Given the description of an element on the screen output the (x, y) to click on. 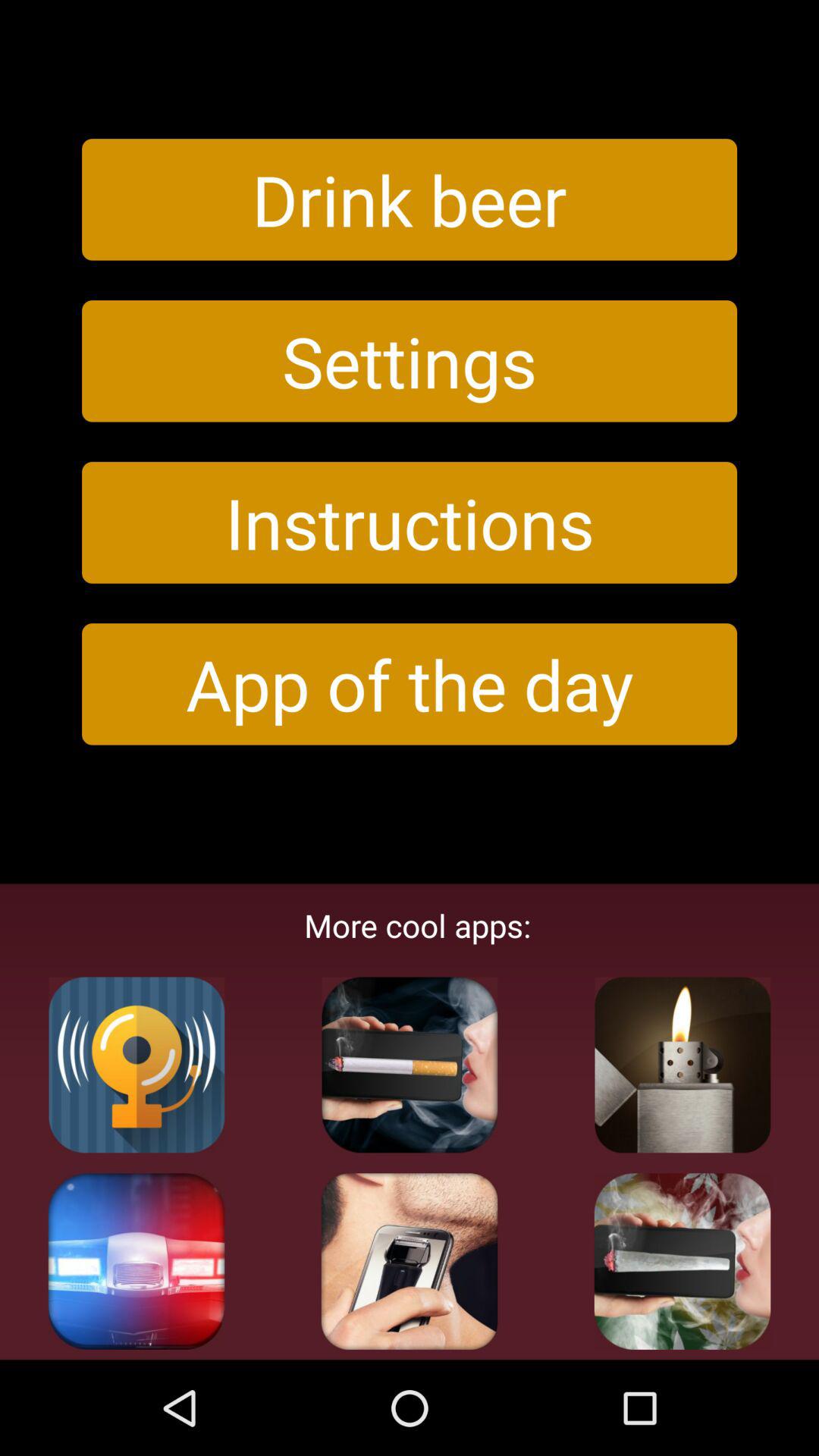
jump until the app of the icon (409, 684)
